Given the description of an element on the screen output the (x, y) to click on. 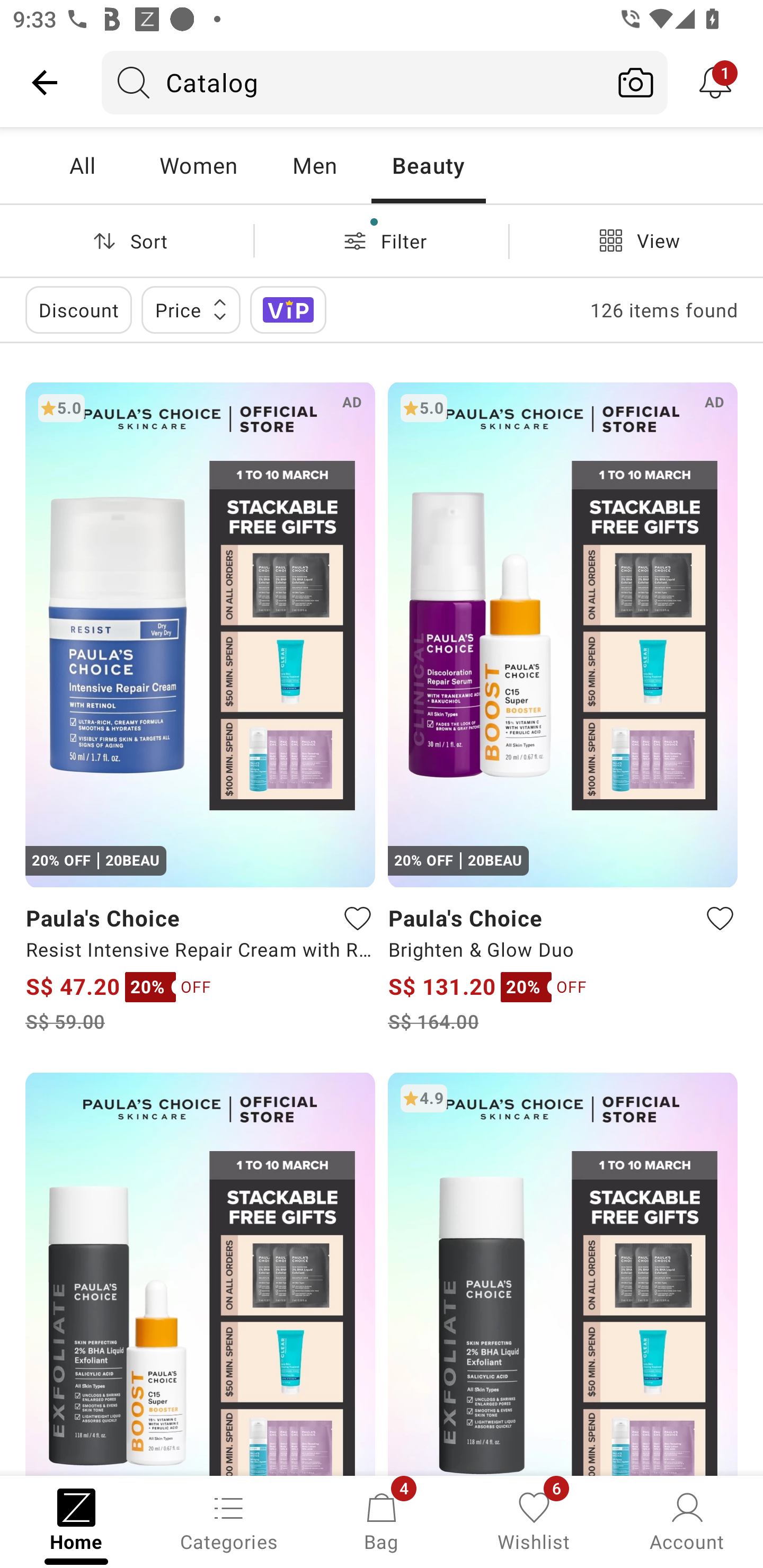
Navigate up (44, 82)
Catalog (352, 82)
All (82, 165)
Women (198, 165)
Men (314, 165)
Sort (126, 240)
Filter (381, 240)
View (636, 240)
Discount (78, 309)
Price (190, 309)
4.9 (562, 1272)
Categories (228, 1519)
Bag, 4 new notifications Bag (381, 1519)
Wishlist, 6 new notifications Wishlist (533, 1519)
Account (686, 1519)
